Given the description of an element on the screen output the (x, y) to click on. 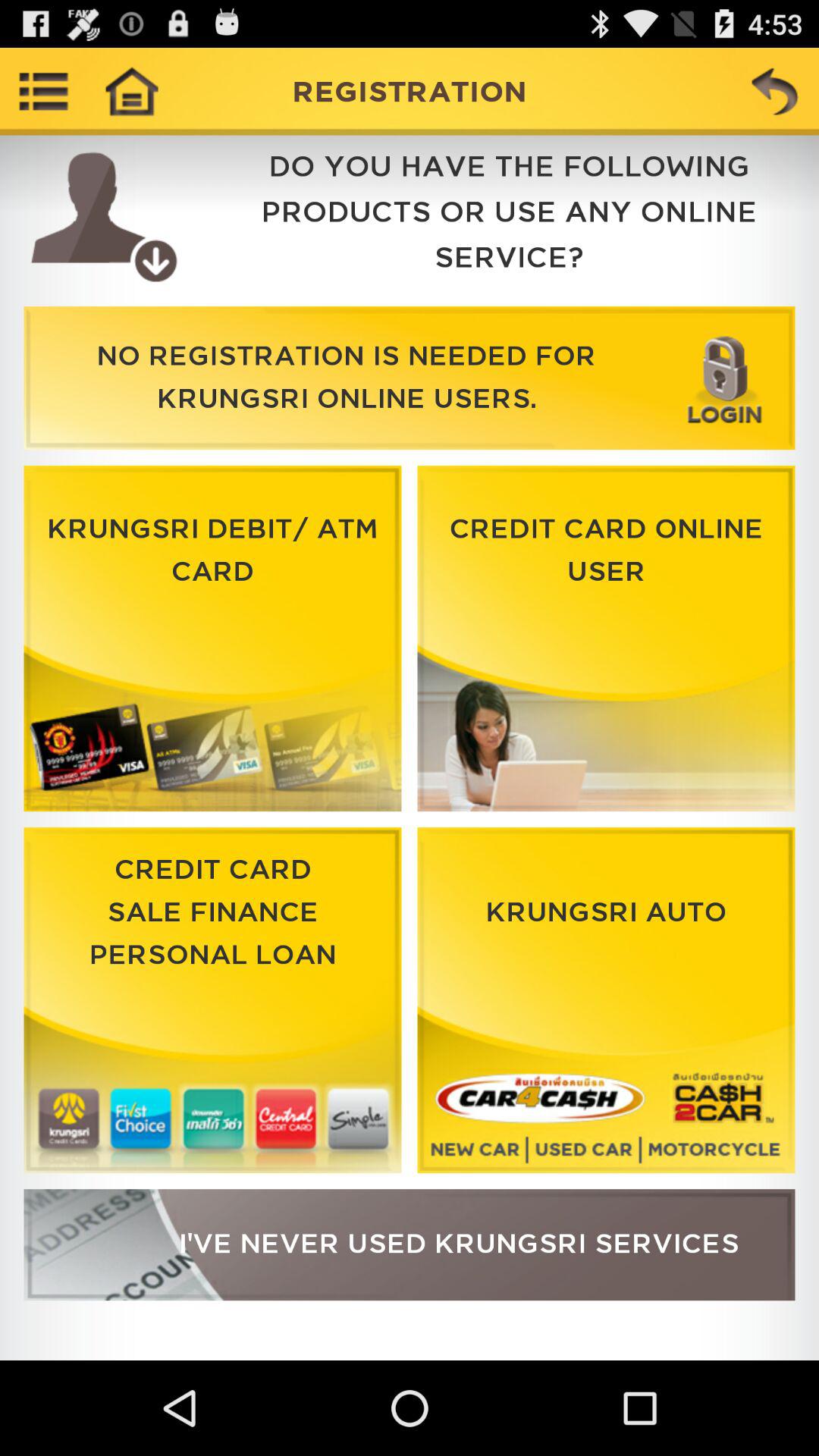
open drop-down menu (43, 91)
